Given the description of an element on the screen output the (x, y) to click on. 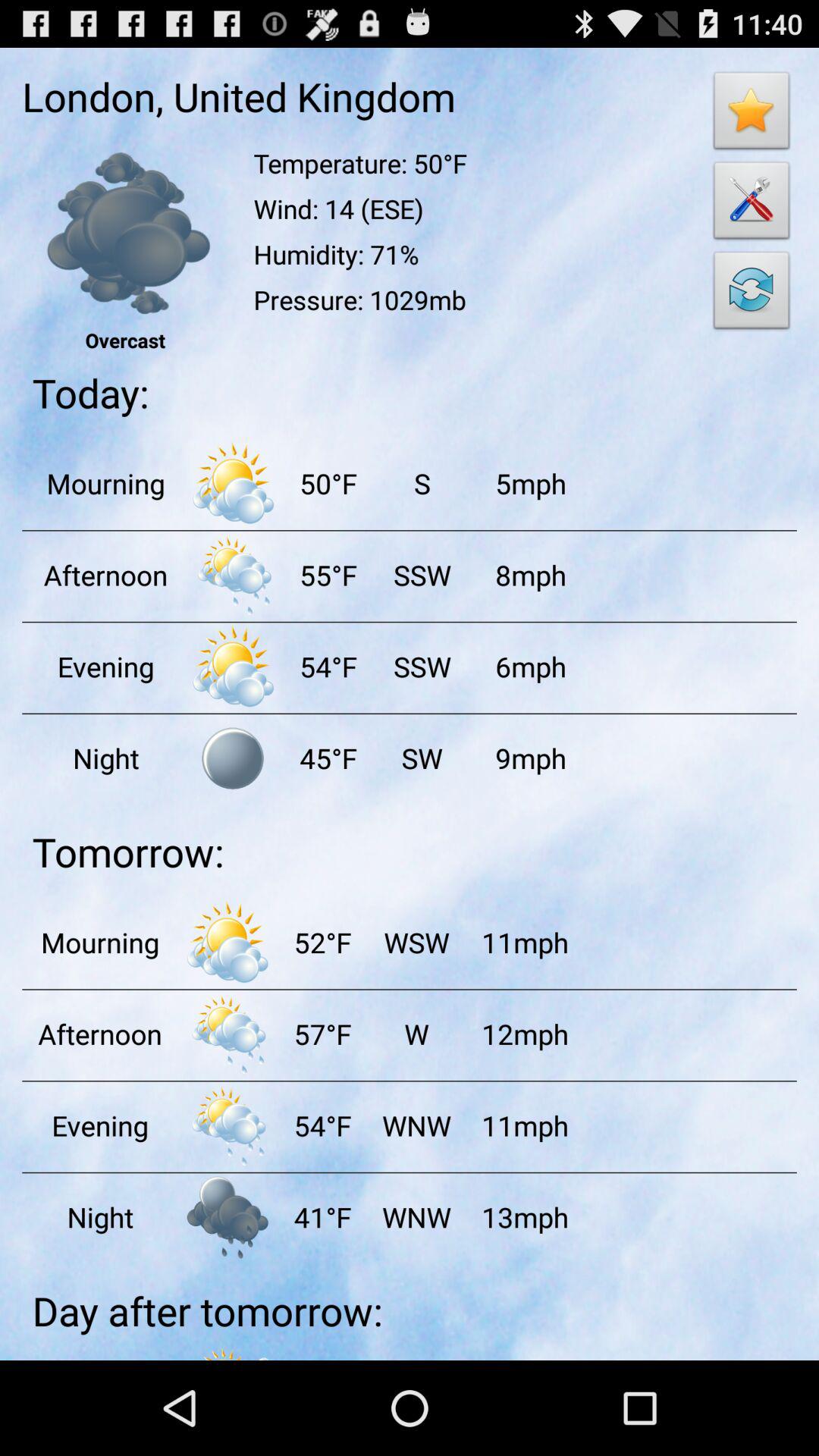
rating (751, 114)
